Given the description of an element on the screen output the (x, y) to click on. 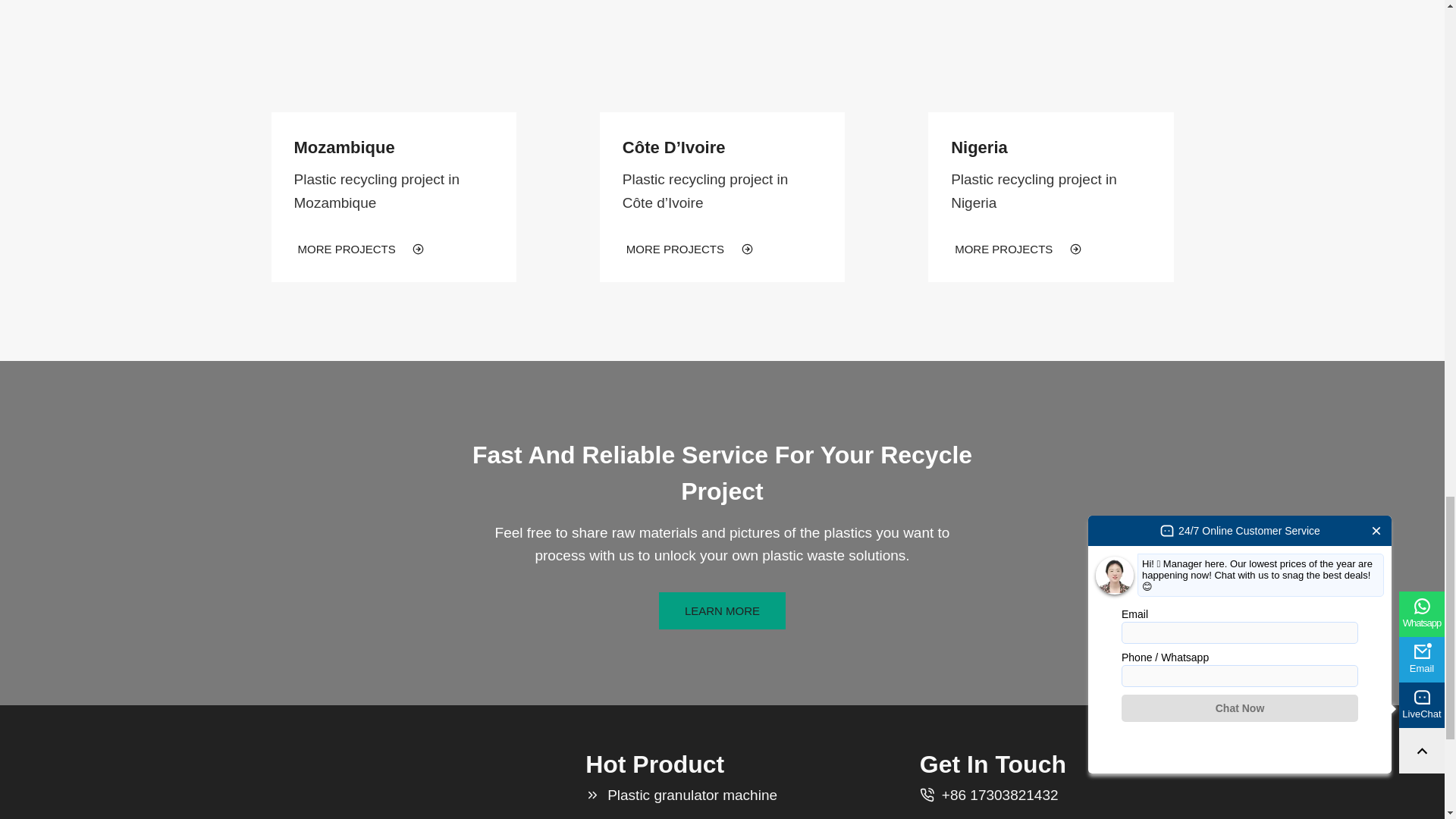
MORE PROJECTS (360, 249)
LEARN MORE (722, 610)
Mozambique (344, 147)
Nigeria (978, 147)
MORE PROJECTS (689, 249)
MORE PROJECTS (1018, 249)
